Given the description of an element on the screen output the (x, y) to click on. 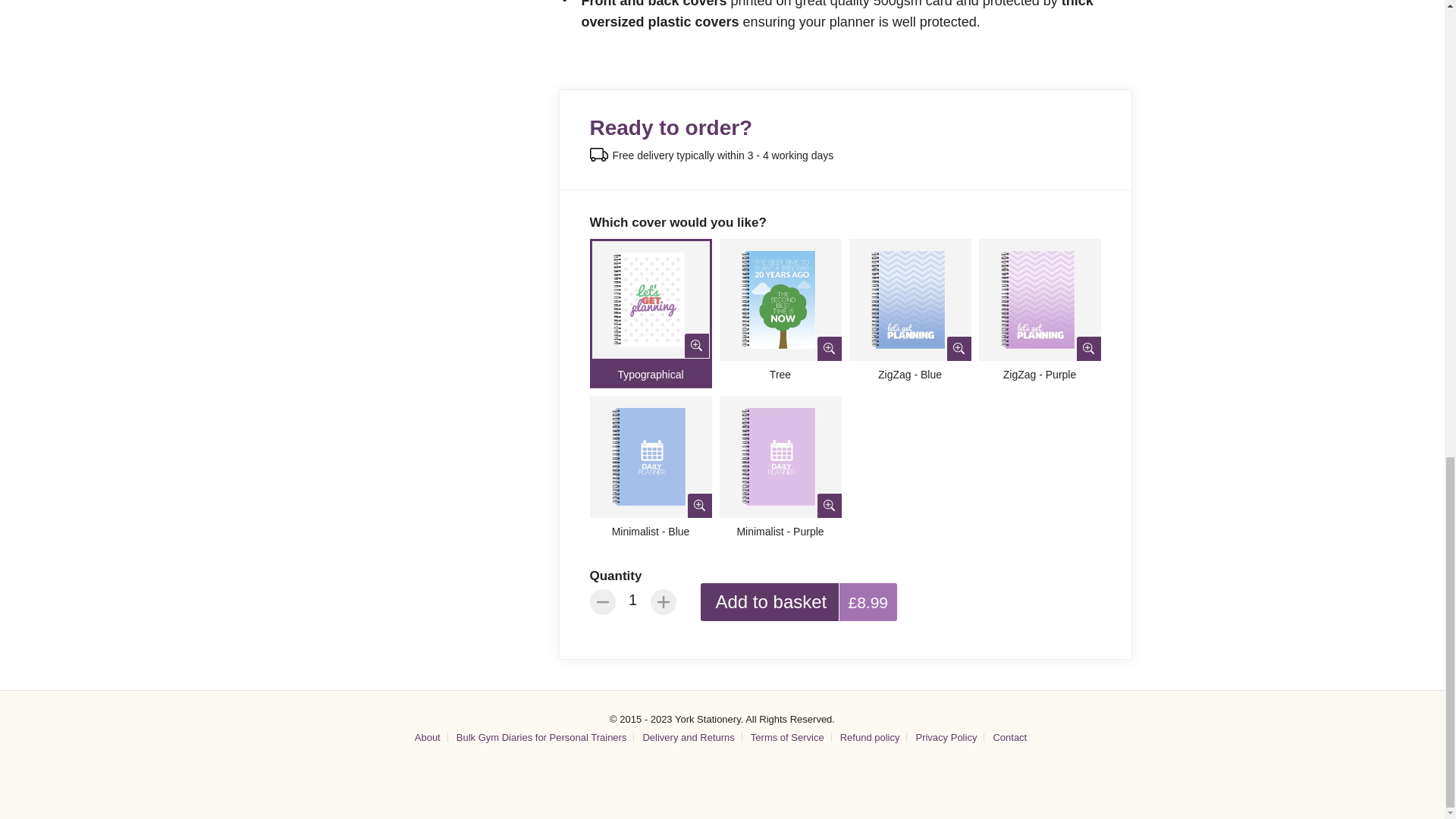
Add to basket (771, 601)
1 (632, 599)
